Given the description of an element on the screen output the (x, y) to click on. 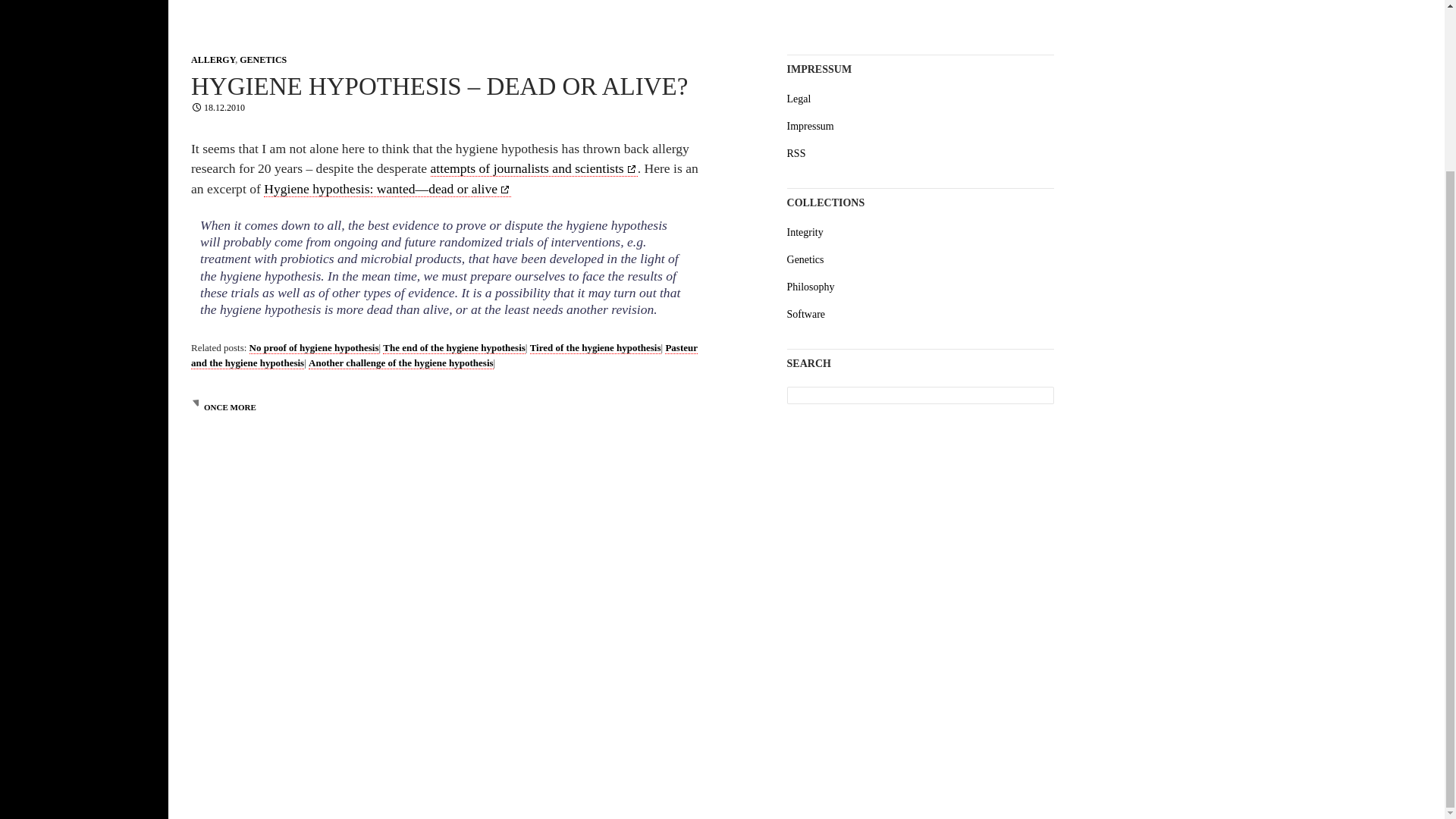
Integrity (805, 232)
Impressum (810, 125)
18.12.2010 (217, 107)
Pasteur and the hygiene hypothesis (443, 355)
Tired of the hygiene hypothesis (595, 347)
Another challenge of the hygiene hypothesis (400, 363)
No proof of hygiene hypothesis (313, 347)
Another challenge of the hygiene hypothesis (400, 363)
Software (806, 314)
Pasteur and the hygiene hypothesis (443, 355)
